Given the description of an element on the screen output the (x, y) to click on. 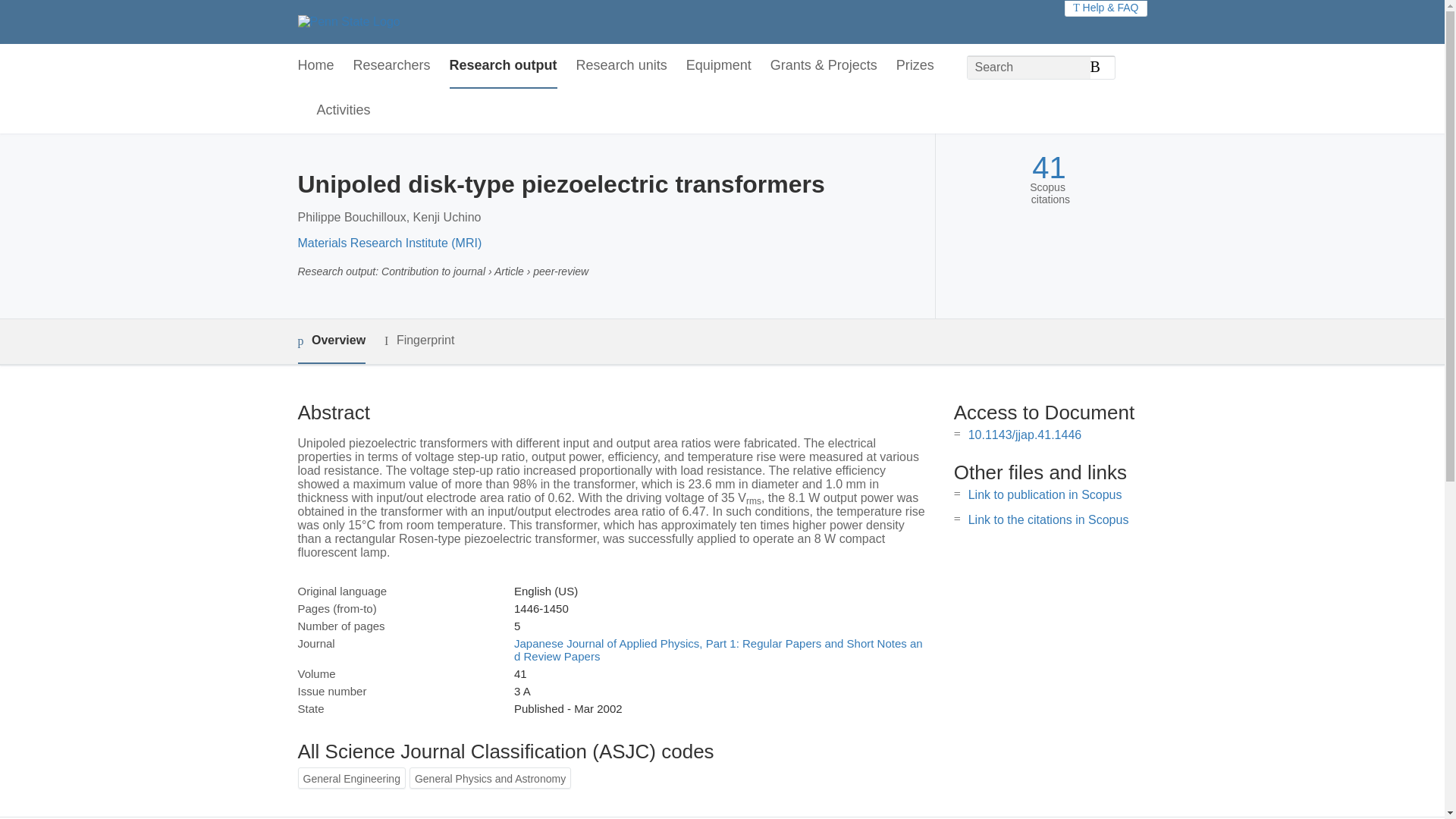
Link to publication in Scopus (1045, 494)
Link to the citations in Scopus (1048, 519)
41 (1048, 167)
Overview (331, 341)
Penn State Home (347, 21)
Fingerprint (419, 340)
Activities (344, 110)
Equipment (718, 66)
Researchers (391, 66)
Research units (621, 66)
Research output (503, 66)
